Given the description of an element on the screen output the (x, y) to click on. 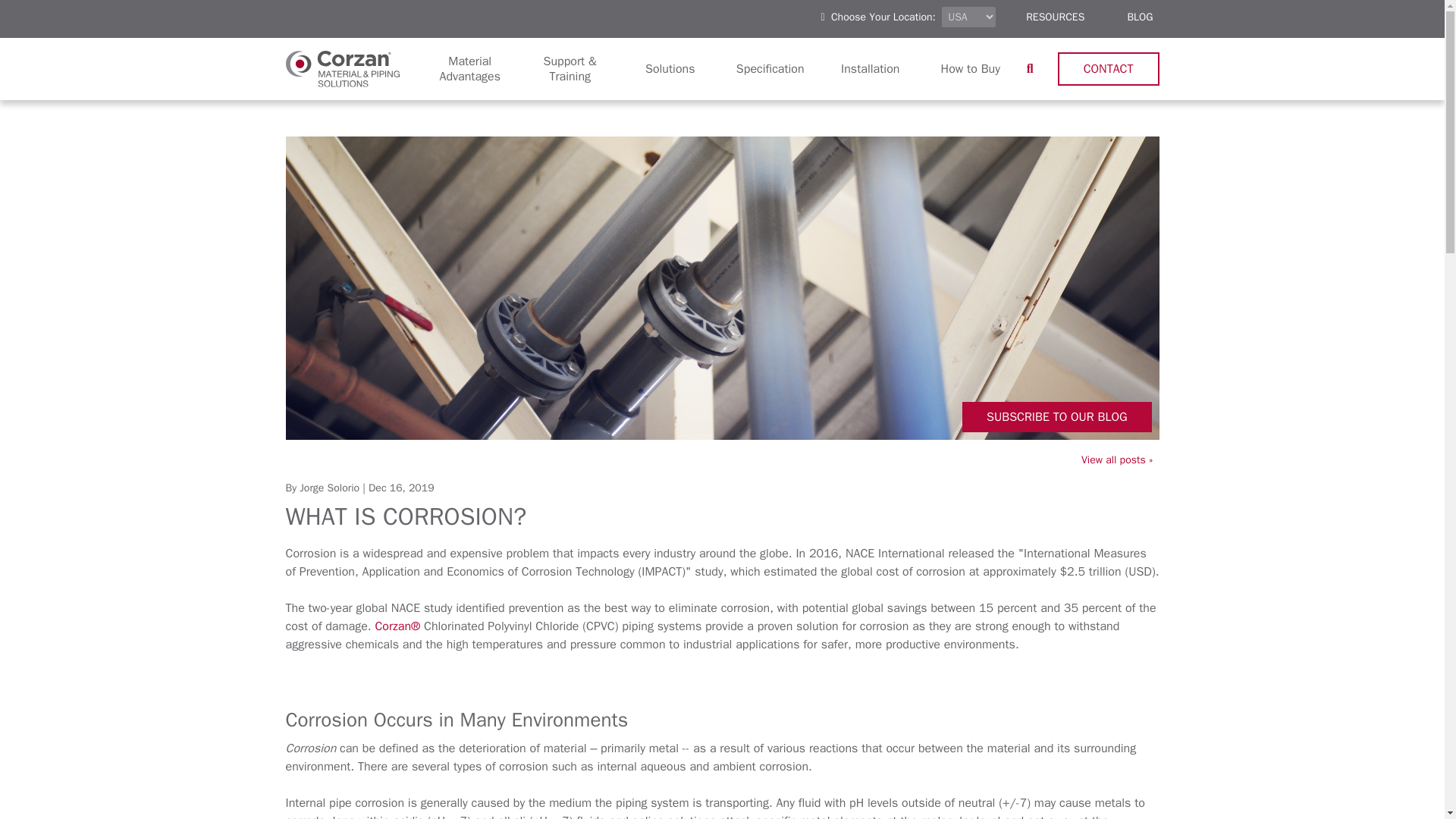
BLOG (1139, 16)
Corzan (341, 68)
Subscribe to Our Blog (1056, 417)
RESOURCES (1055, 16)
